Given the description of an element on the screen output the (x, y) to click on. 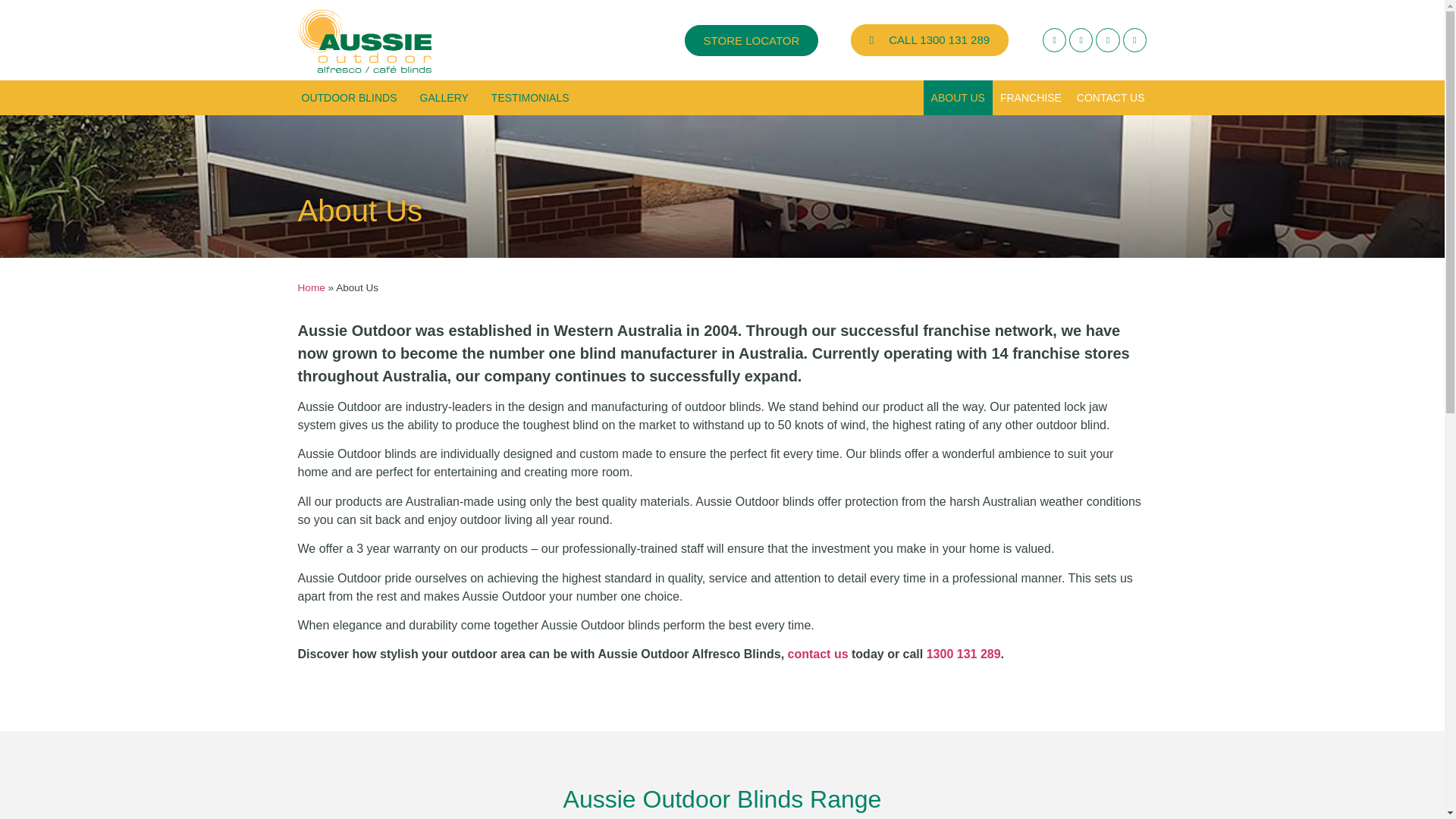
TESTIMONIALS (530, 97)
CONTACT US (1110, 97)
STORE LOCATOR (751, 40)
ABOUT US (957, 97)
FRANCHISE (1030, 97)
GALLERY (444, 97)
CALL 1300 131 289 (929, 40)
Contact Us (817, 653)
OUTDOOR BLINDS (348, 97)
